Given the description of an element on the screen output the (x, y) to click on. 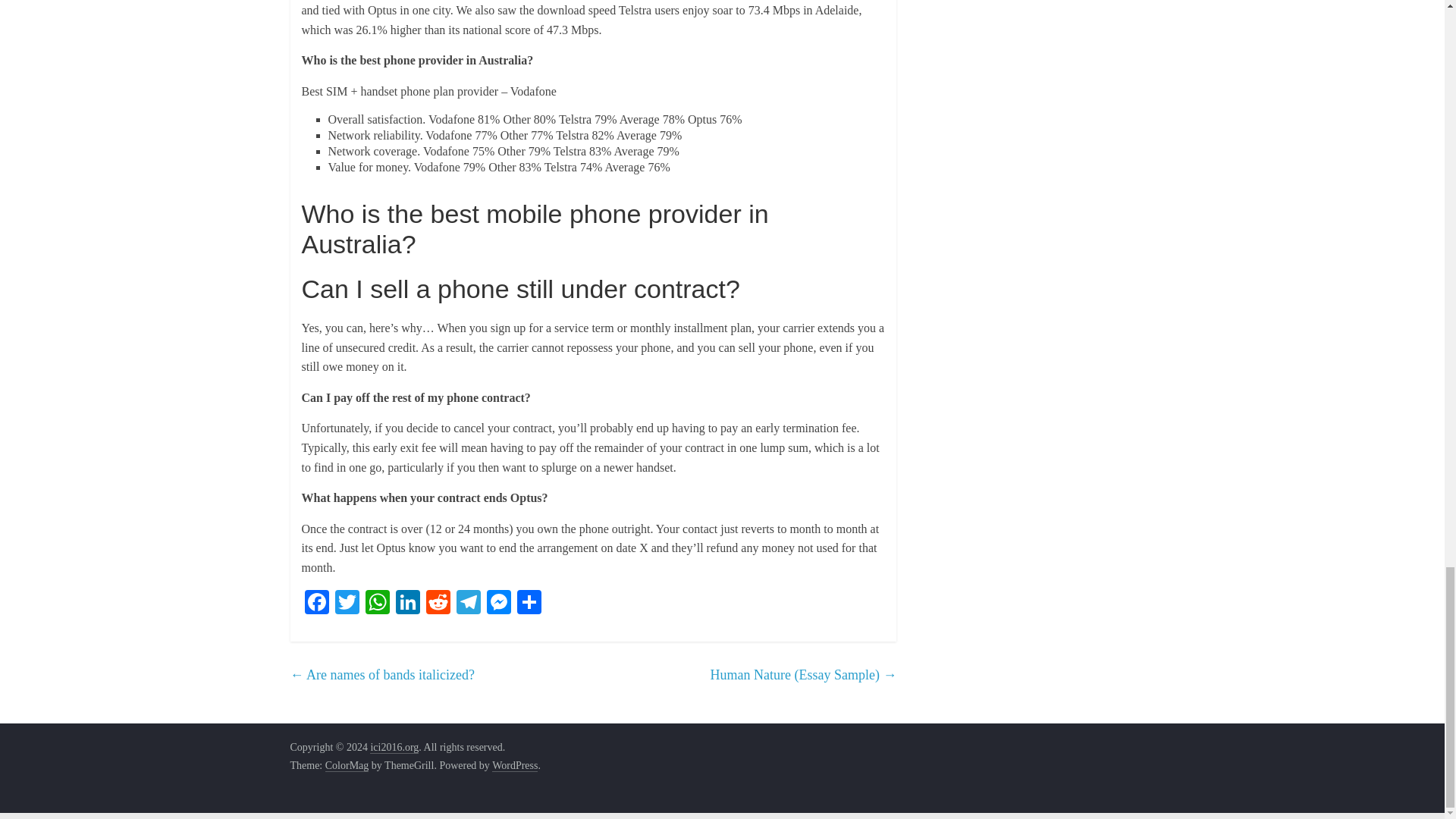
Telegram (467, 603)
Reddit (437, 603)
Twitter (346, 603)
Reddit (437, 603)
Facebook (316, 603)
Twitter (346, 603)
WhatsApp (377, 603)
Messenger (498, 603)
Messenger (498, 603)
Facebook (316, 603)
